Given the description of an element on the screen output the (x, y) to click on. 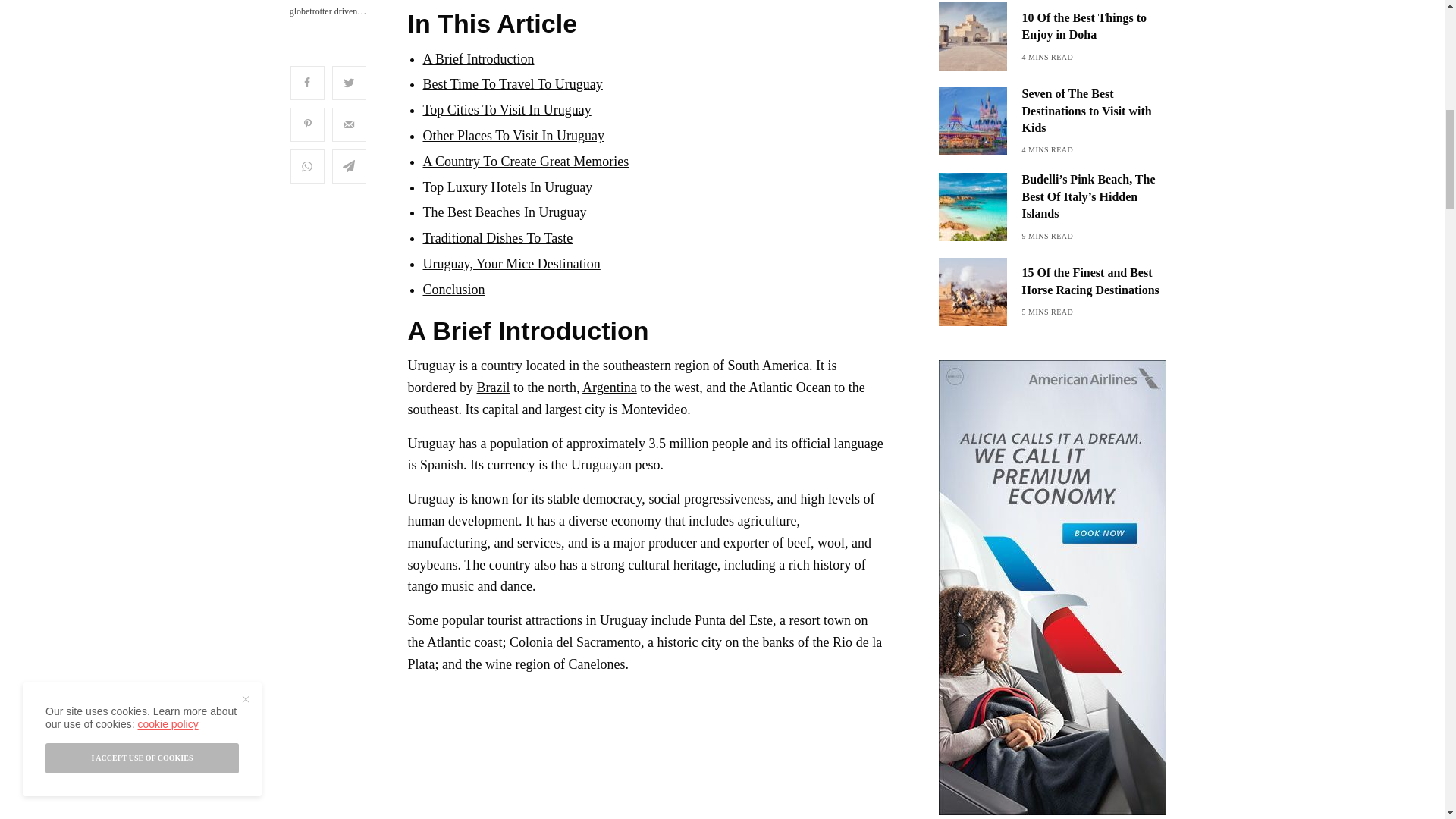
Top Cities To Visit In Uruguay (507, 109)
Best Time To Travel To Uruguay (512, 83)
A Country To Create Great Memories (525, 160)
Top Luxury Hotels In Uruguay (507, 186)
Argentina (609, 387)
Montevideo Cityscape Uruguay - The Voyage Magazine (525, 753)
A Brief Introduction (478, 58)
The Best Beaches In Uruguay (504, 212)
Other Places To Visit In Uruguay (513, 135)
Brazil (494, 387)
